Given the description of an element on the screen output the (x, y) to click on. 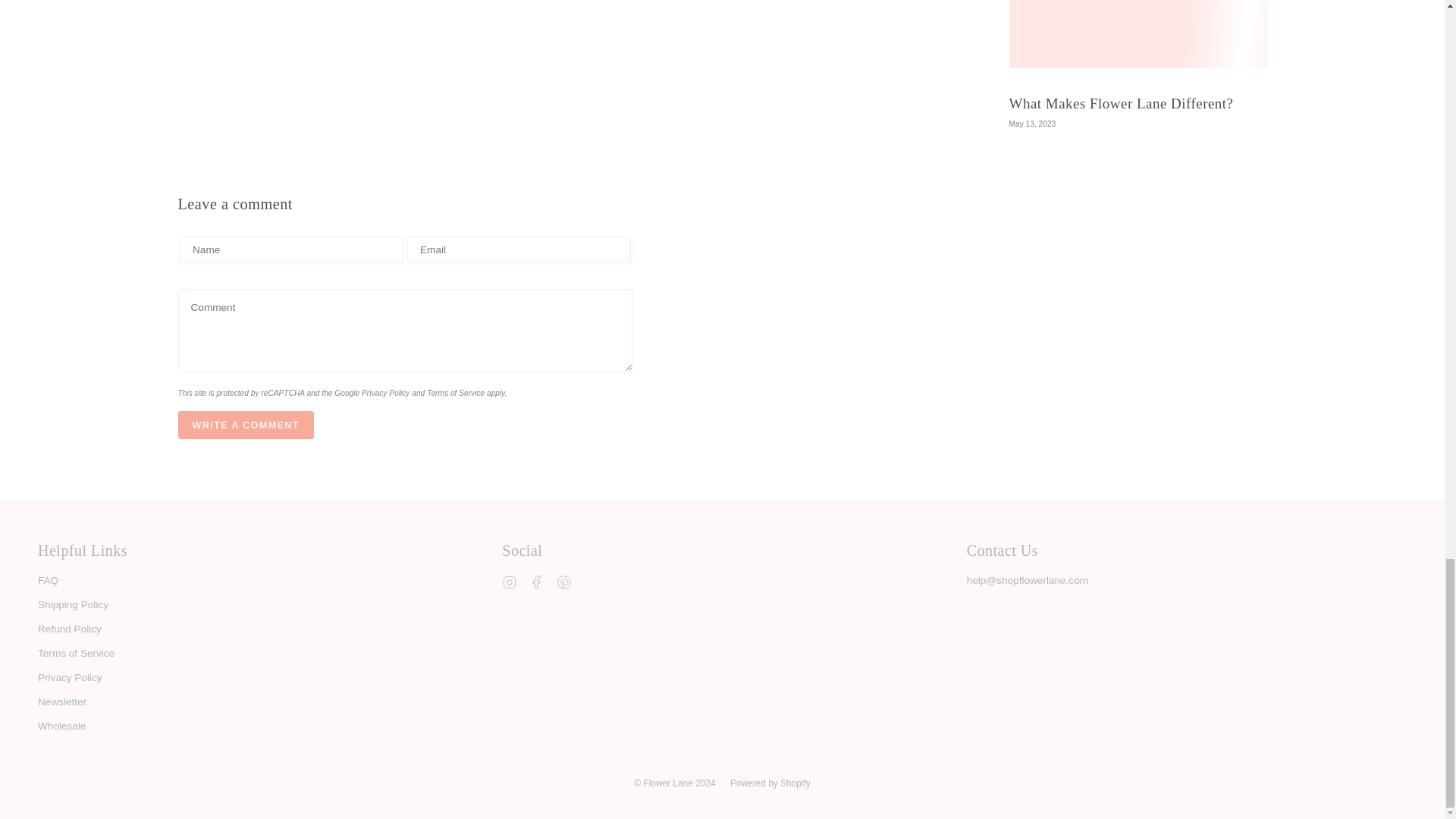
What Makes Flower Lane Different? (1121, 103)
Flower Lane  on Pinterest (564, 582)
Write a comment (245, 424)
Flower Lane  on Instagram (509, 582)
Flower Lane  on Facebook (536, 582)
